Given the description of an element on the screen output the (x, y) to click on. 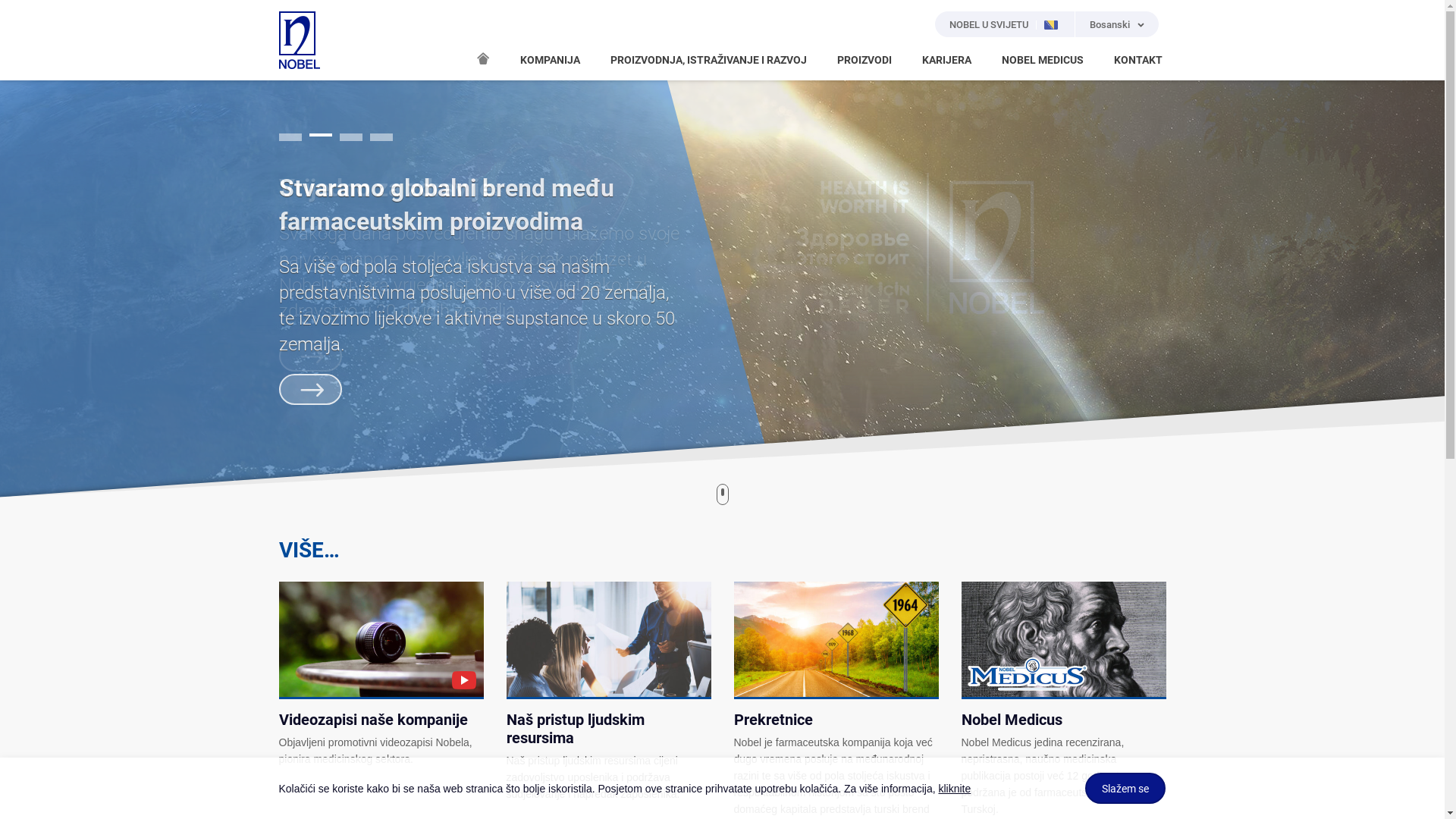
1 Element type: text (290, 134)
NOBEL Element type: text (299, 40)
kliknite Element type: text (954, 788)
3 Element type: text (350, 137)
2 Element type: text (320, 137)
PROIZVODI Element type: text (864, 60)
NOBEL MEDICUS Element type: text (1041, 60)
KONTAKT Element type: text (1137, 60)
Vrijedno za zdravlje Element type: text (385, 187)
4 Element type: text (381, 137)
NOBEL U SVIJETU Element type: text (1005, 24)
